Given the description of an element on the screen output the (x, y) to click on. 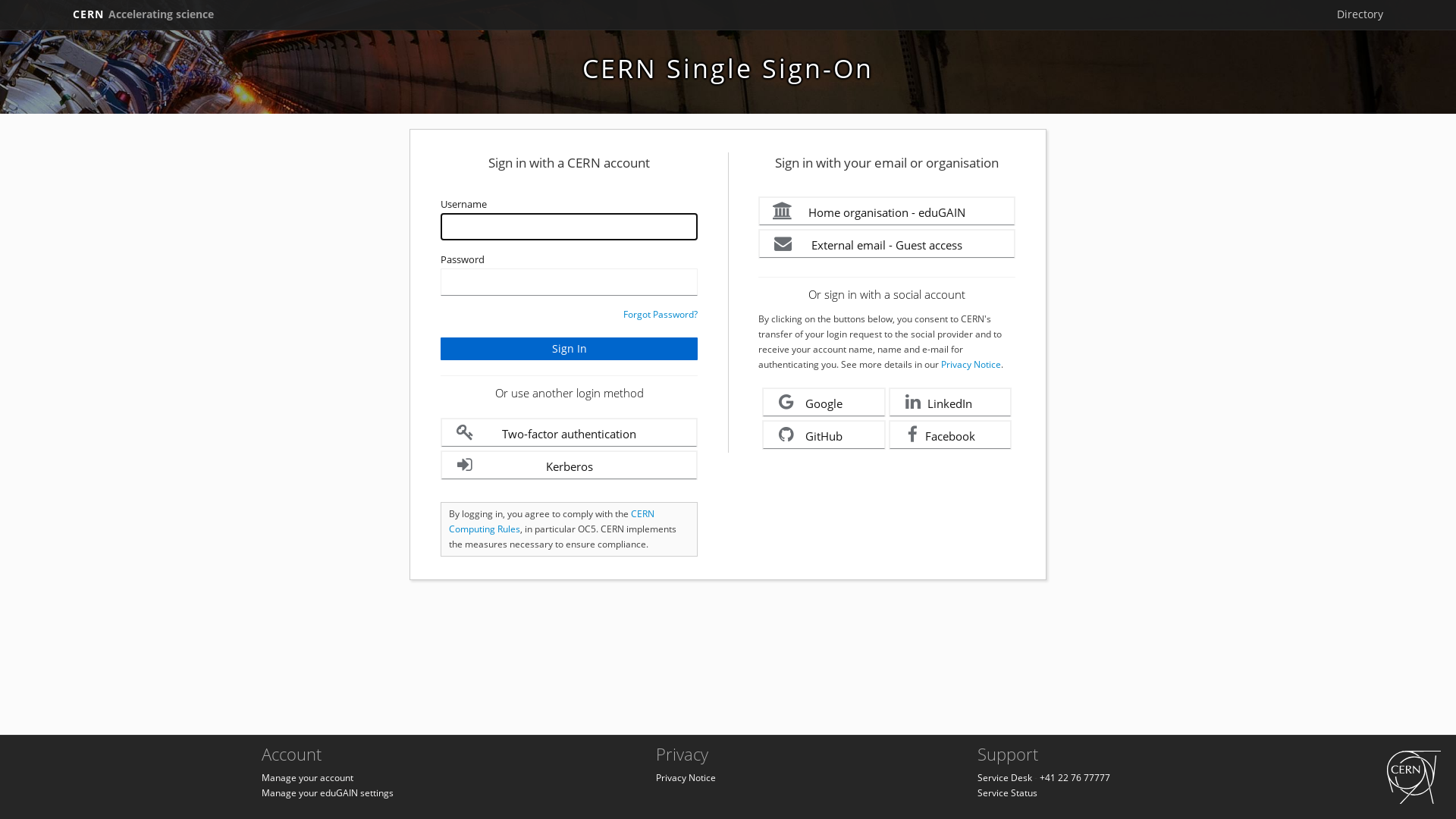
Directory Element type: text (1359, 14)
CERN Accelerating science Element type: text (142, 14)
Service Status Element type: text (1007, 792)
Forgot Password? Element type: text (660, 313)
Privacy Notice Element type: text (685, 777)
Facebook Element type: text (950, 434)
Kerberos Element type: text (568, 465)
External email - Guest access Element type: text (886, 243)
Home organisation - eduGAIN Element type: text (886, 210)
Service Desk Element type: text (1004, 777)
Privacy Notice Element type: text (971, 363)
GitHub Element type: text (823, 434)
Two-factor authentication Element type: text (568, 432)
CERN Computing Rules Element type: text (551, 521)
Sign In Element type: text (568, 348)
Manage your eduGAIN settings Element type: text (327, 792)
Google Element type: text (823, 402)
LinkedIn Element type: text (950, 402)
Manage your account Element type: text (307, 777)
+41 22 76 77777 Element type: text (1074, 777)
